Given the description of an element on the screen output the (x, y) to click on. 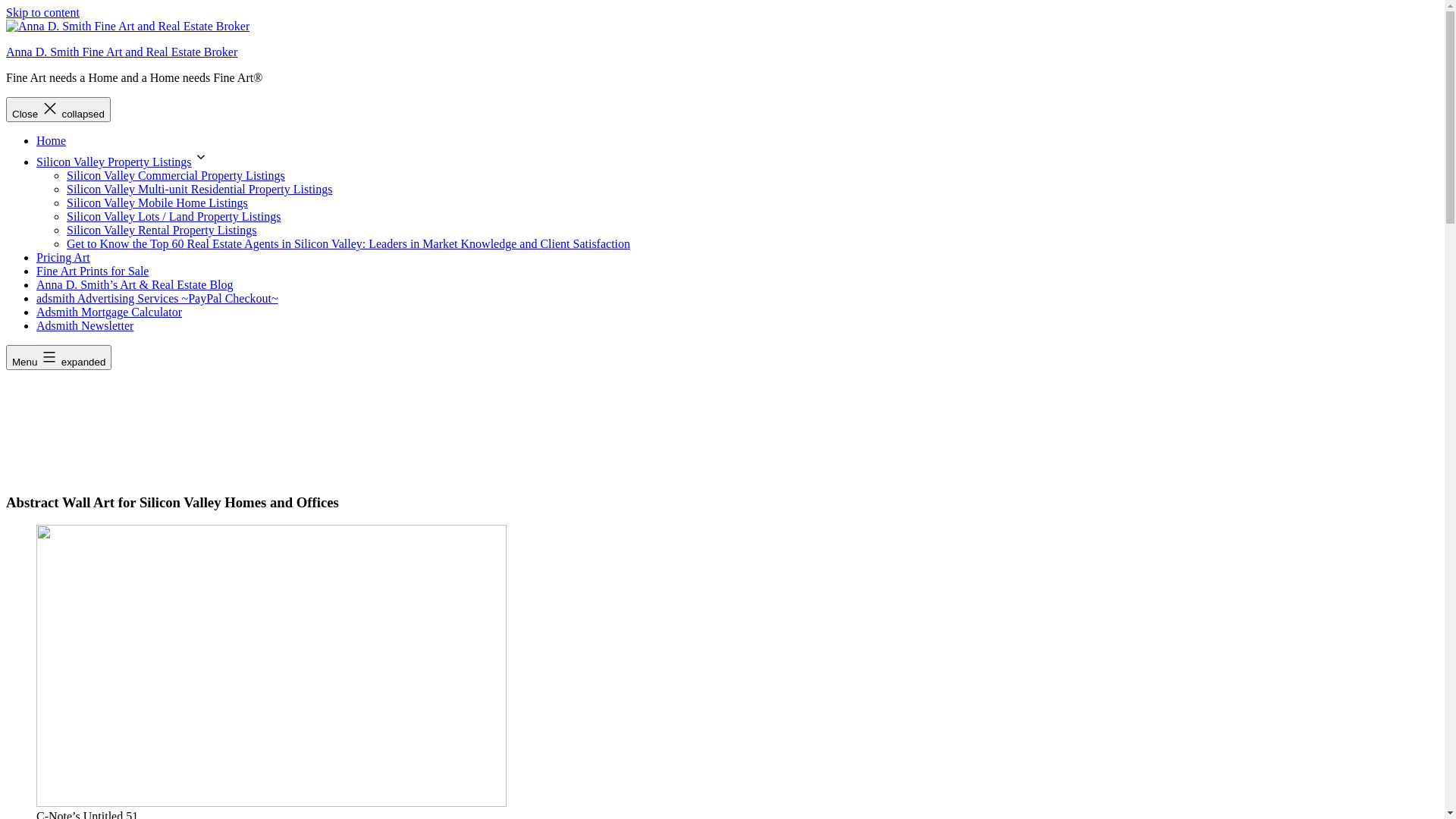
Pricing Art Element type: text (63, 257)
Adsmith Newsletter Element type: text (84, 325)
Home Element type: text (50, 140)
Silicon Valley Commercial Property Listings Element type: text (175, 175)
Silicon Valley Multi-unit Residential Property Listings Element type: text (199, 188)
Silicon Valley Property Listings Element type: text (113, 161)
Silicon Valley Mobile Home Listings Element type: text (156, 202)
Silicon Valley Rental Property Listings Element type: text (161, 229)
Fine Art Prints for Sale Element type: text (92, 270)
adsmith Advertising Services ~PayPal Checkout~ Element type: text (157, 297)
Adsmith Mortgage Calculator Element type: text (109, 311)
Menu expanded Element type: text (58, 357)
Anna D. Smith Fine Art and Real Estate Broker Element type: text (121, 51)
Skip to content Element type: text (42, 12)
Silicon Valley Lots / Land Property Listings Element type: text (173, 216)
Close collapsed Element type: text (58, 109)
